Given the description of an element on the screen output the (x, y) to click on. 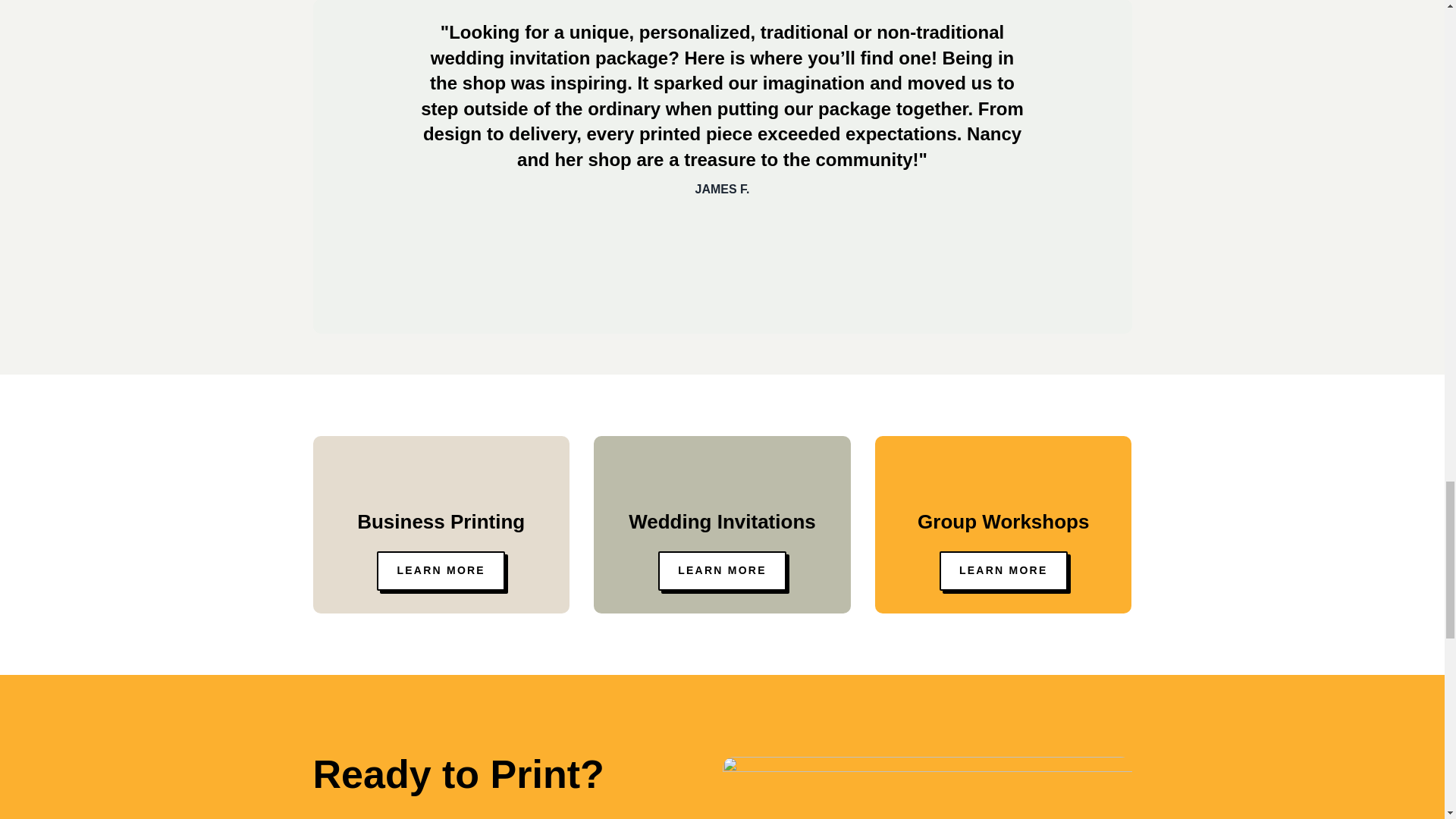
LEARN MORE (441, 570)
LEARN MORE (722, 570)
Nancy and Michael (926, 787)
LEARN MORE (1003, 570)
